Given the description of an element on the screen output the (x, y) to click on. 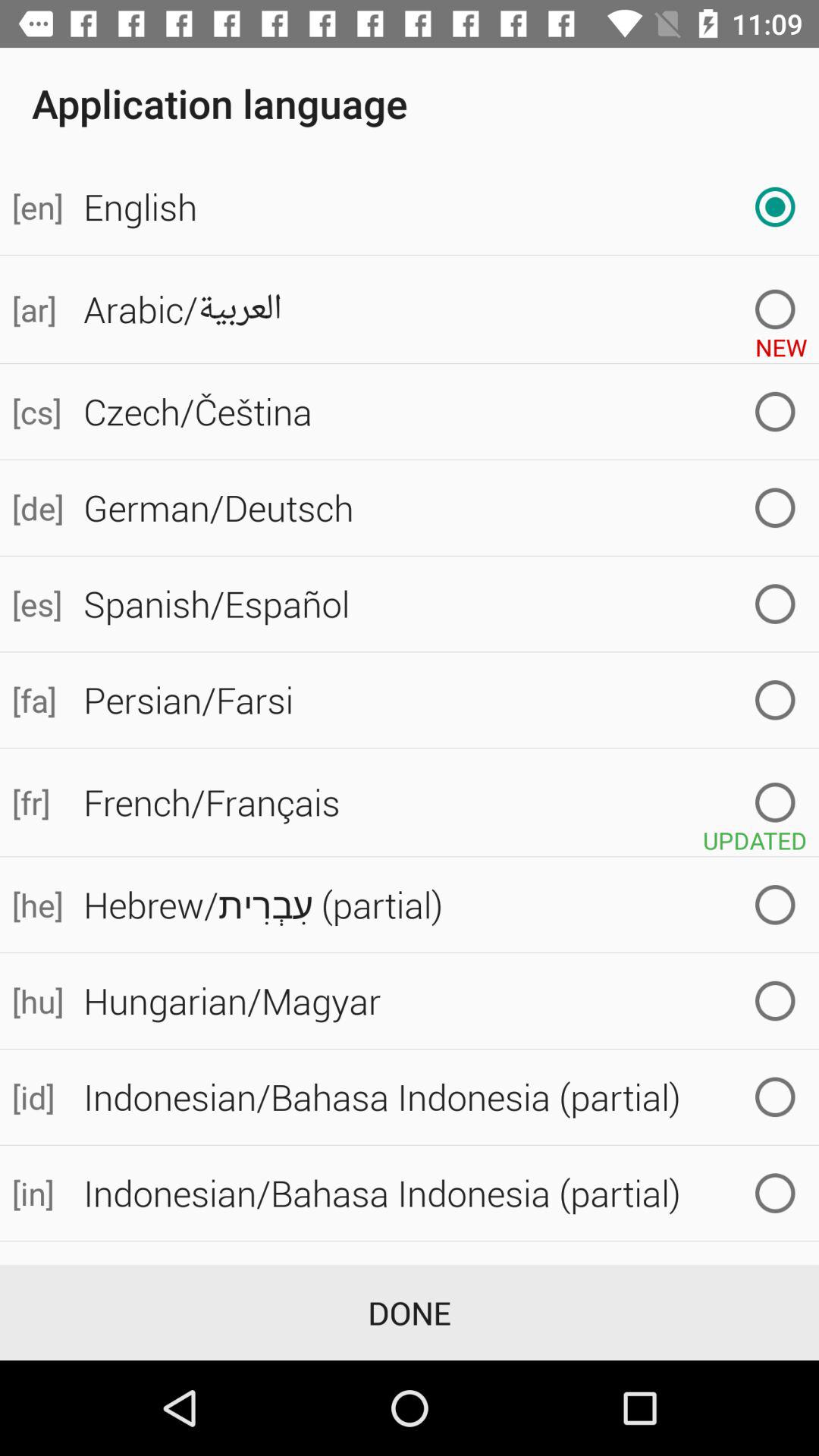
select the new at the top right corner (781, 341)
